Given the description of an element on the screen output the (x, y) to click on. 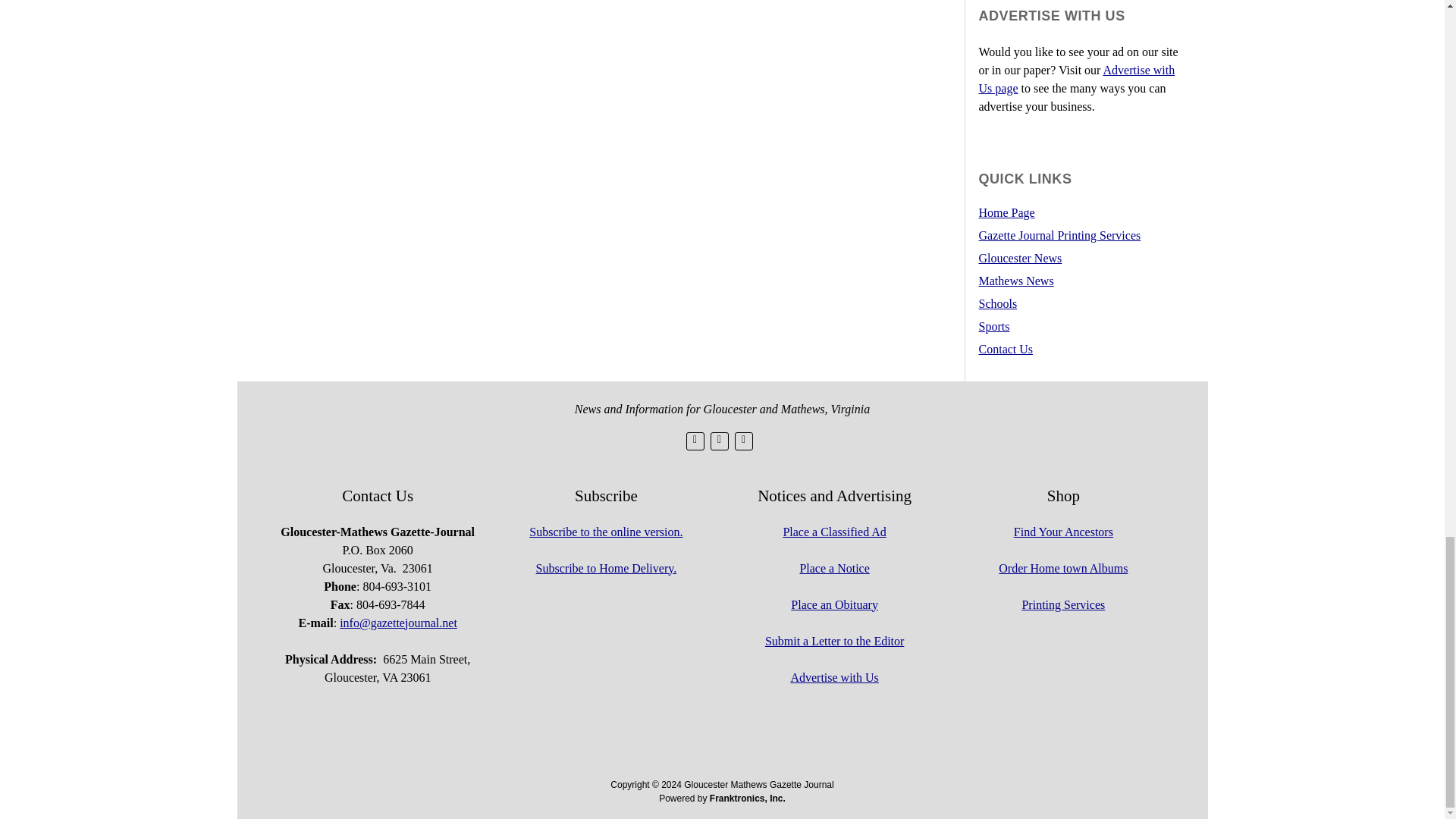
instagram (742, 441)
twitter (694, 441)
facebook (719, 441)
